Given the description of an element on the screen output the (x, y) to click on. 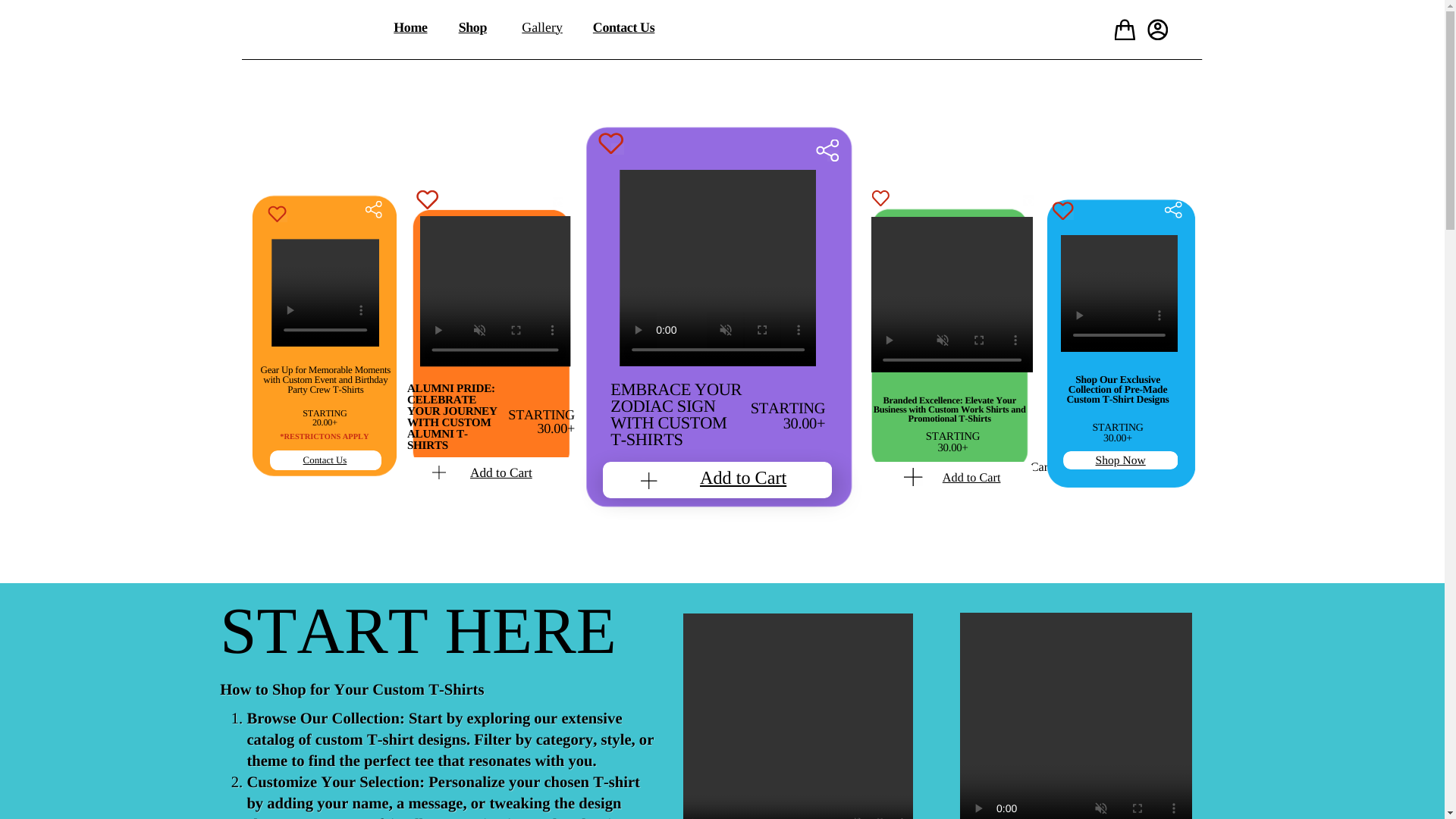
Add to Cart (743, 477)
Add to Cart (971, 477)
Shop (472, 27)
Contact Us (324, 460)
Add to Cart (501, 472)
Gallery (541, 27)
Shop Now (1120, 460)
Home (409, 27)
Contact Us (622, 27)
